Given the description of an element on the screen output the (x, y) to click on. 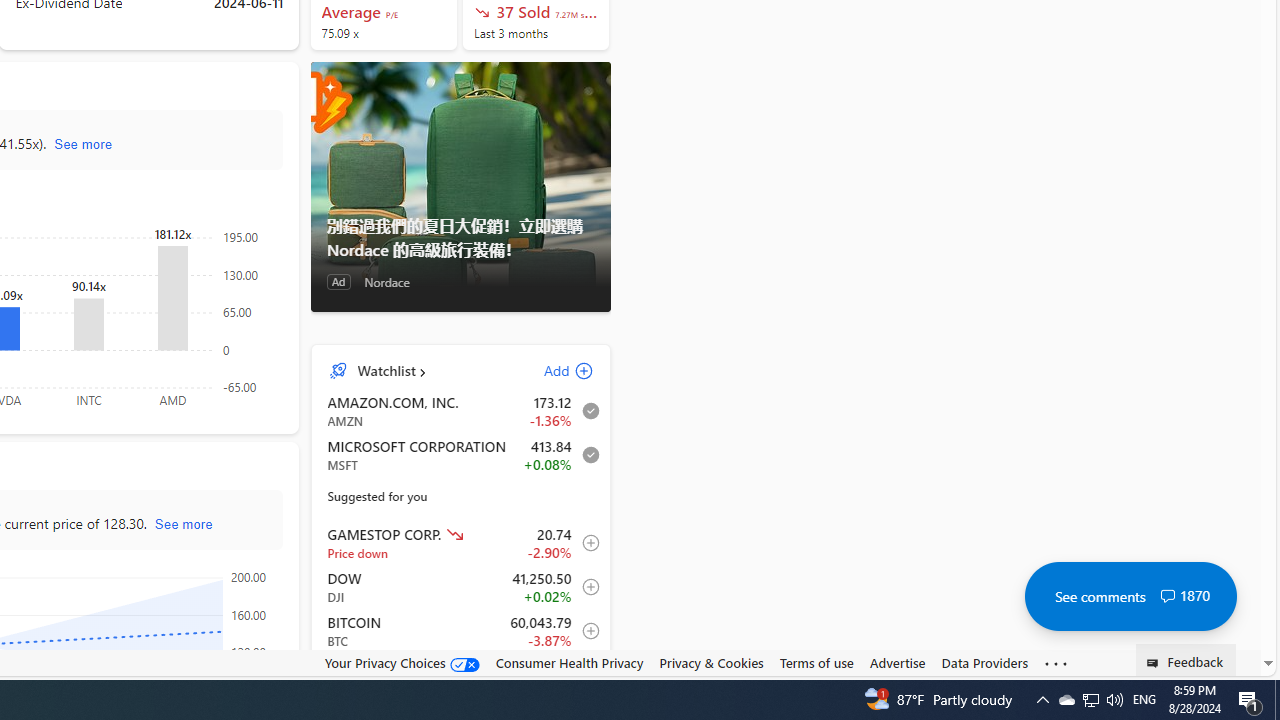
Advertise (897, 662)
DJI DOW increase 41,250.50 +9.98 +0.02% item1 (461, 587)
ETH Ethereum decrease 2,529.56 -87.30 -3.45% item3 (461, 674)
Class: feedback_link_icon-DS-EntryPoint1-1 (1156, 663)
Add (551, 370)
Consumer Health Privacy (569, 663)
Class: cwt-icon-vector (1167, 596)
Consumer Health Privacy (569, 662)
Terms of use (816, 662)
